Given the description of an element on the screen output the (x, y) to click on. 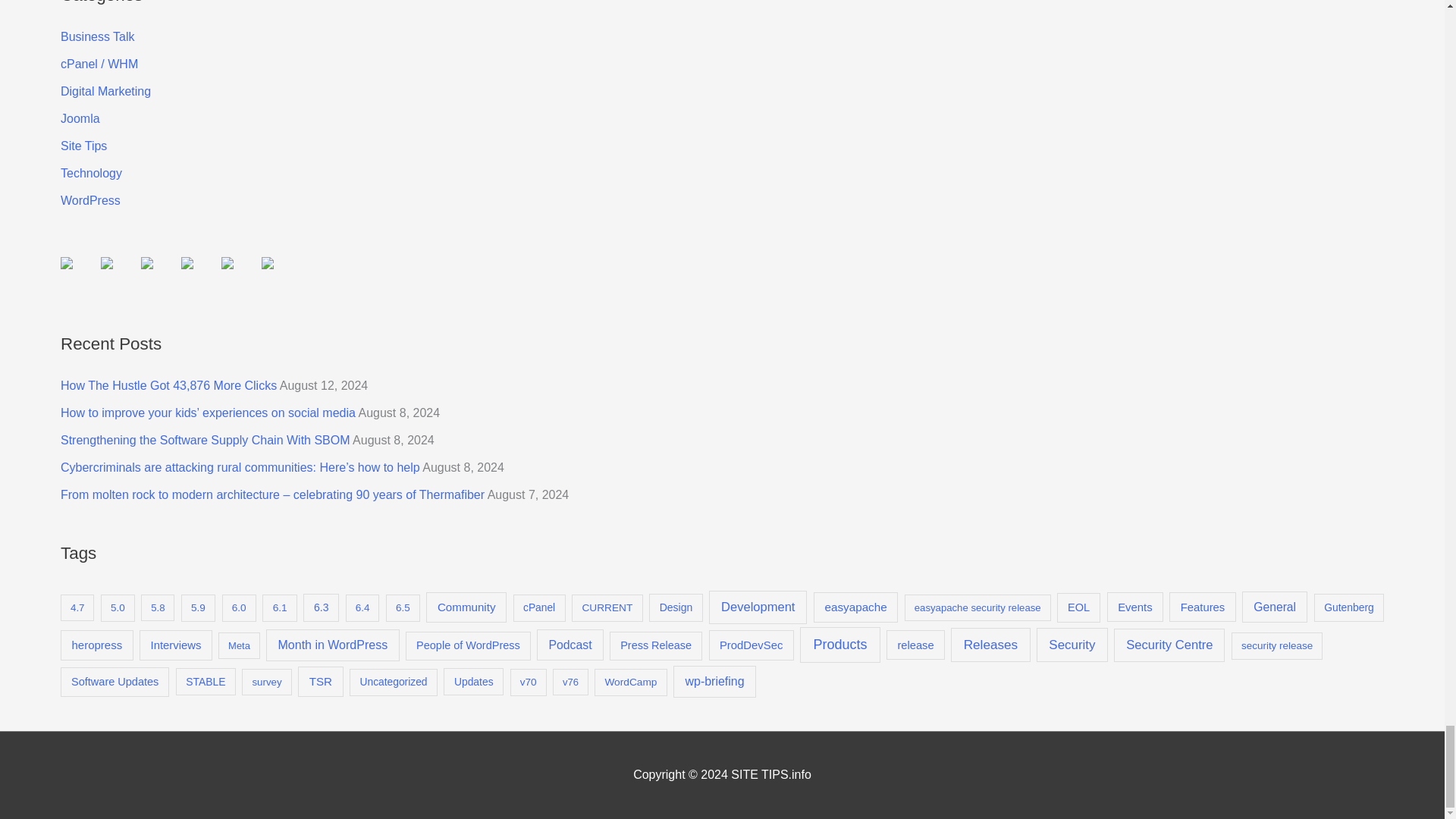
Share on Facebook (66, 263)
Share on Twitter (106, 263)
Pin it with Pinterest (186, 263)
Share on Twitter (118, 275)
Pin it with Pinterest (198, 275)
Share on Reddit (159, 275)
Share on Facebook (79, 275)
Share on Linkedin (239, 275)
Share on Reddit (146, 263)
